Given the description of an element on the screen output the (x, y) to click on. 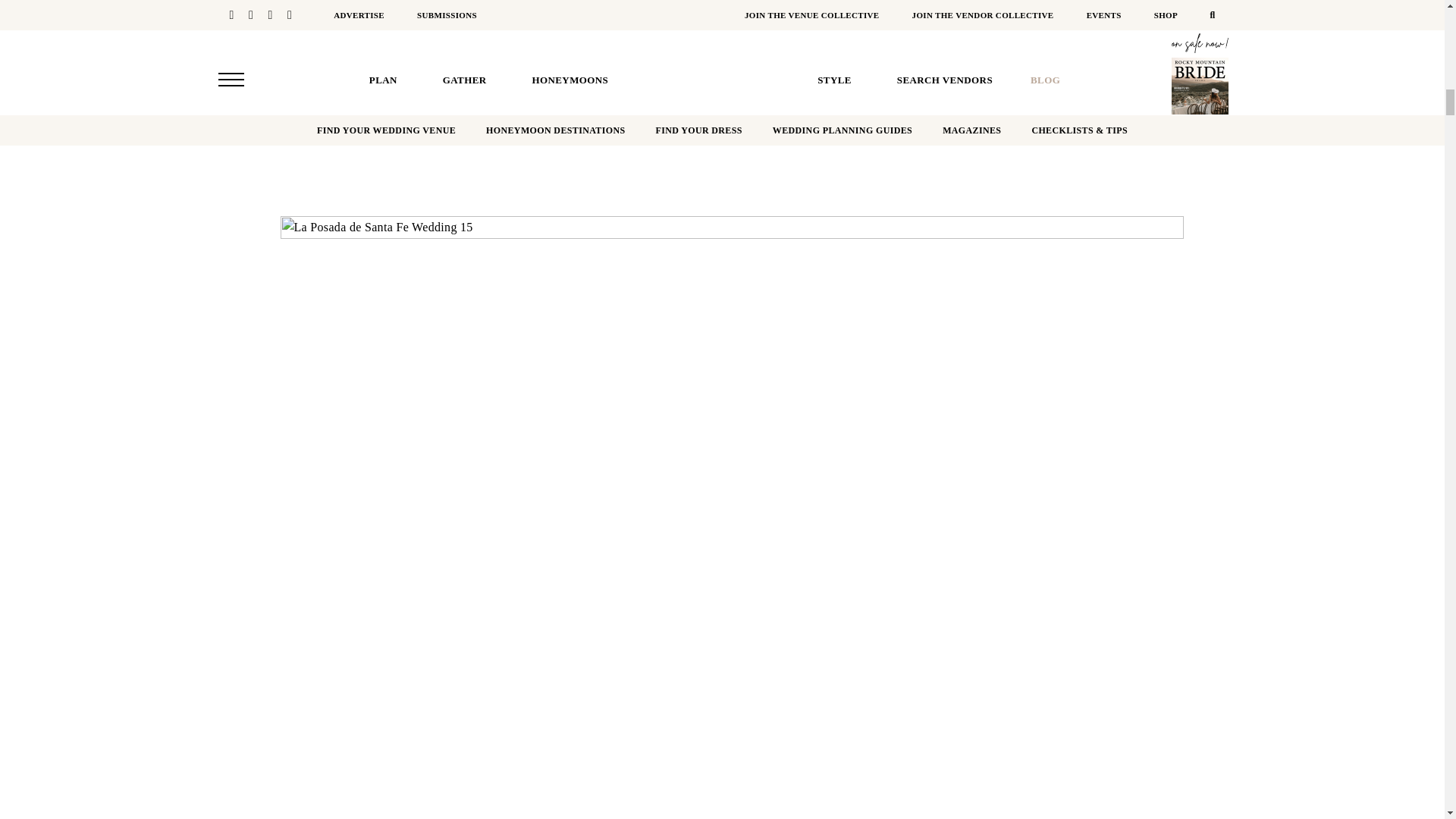
La Posada de Santa Fe Wedding 7 (430, 8)
La Posada de Santa Fe Wedding 10 (430, 116)
